Given the description of an element on the screen output the (x, y) to click on. 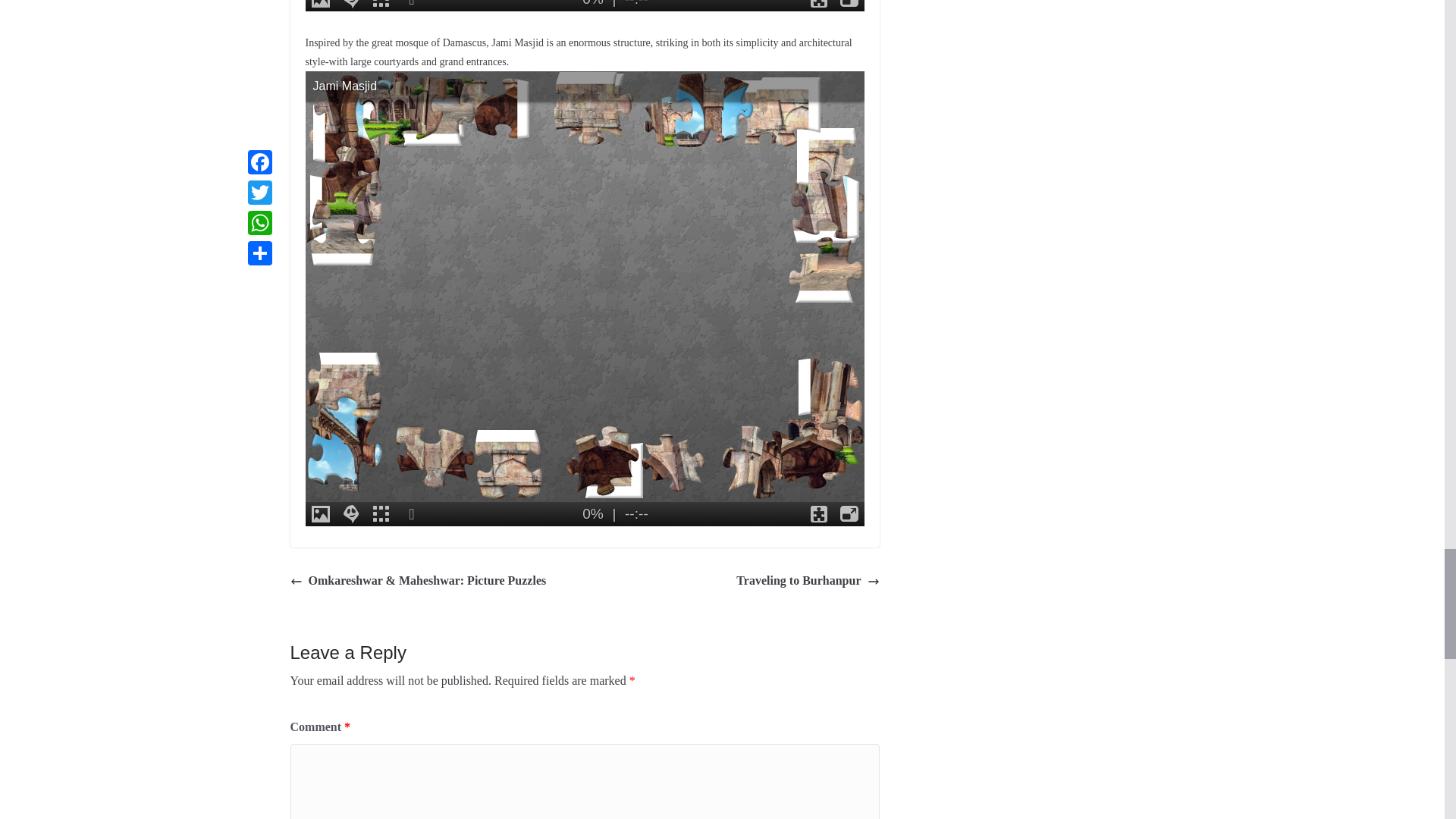
Traveling to Burhanpur (807, 581)
